Given the description of an element on the screen output the (x, y) to click on. 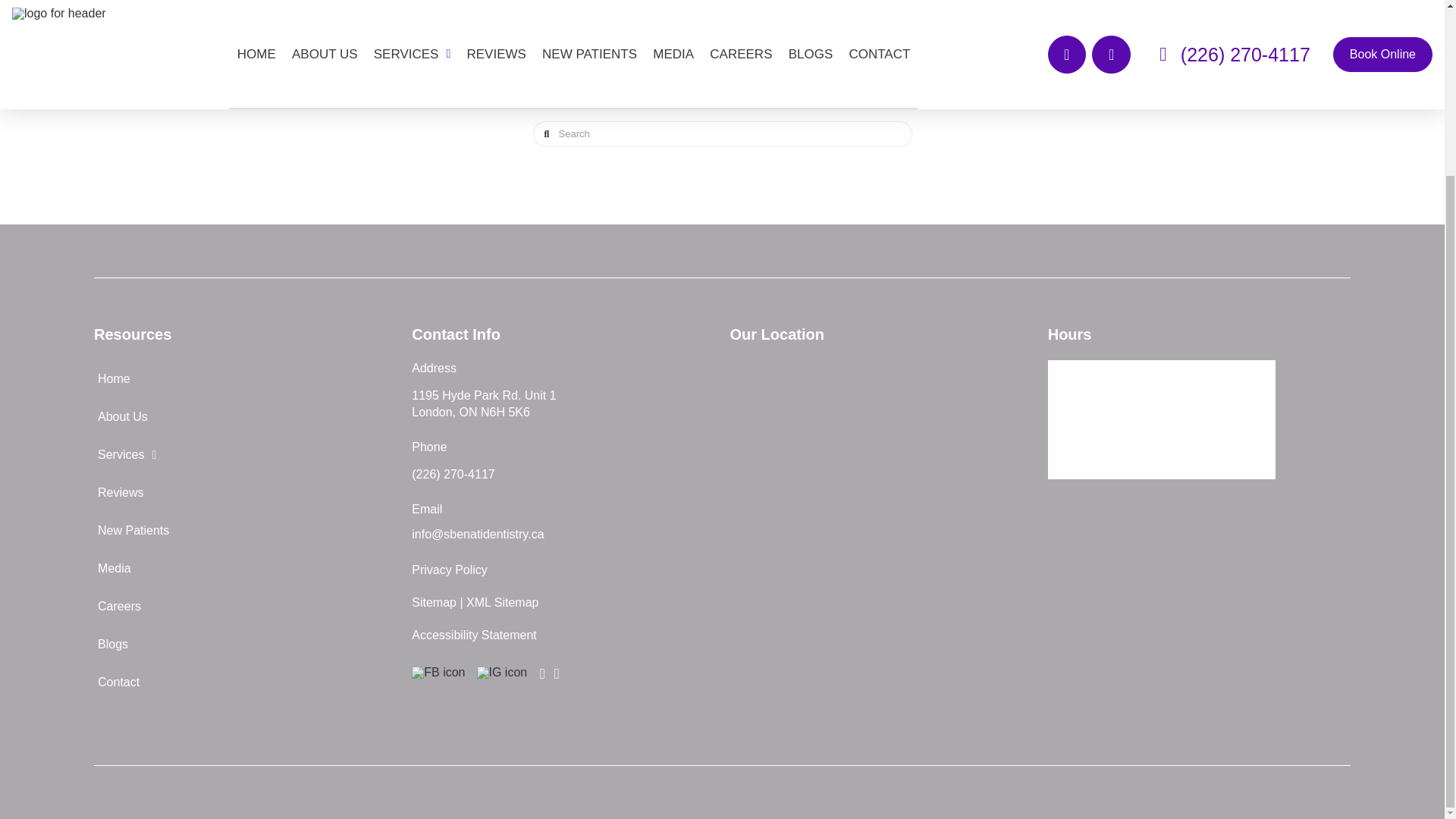
About Us (245, 416)
Home (245, 379)
Reviews (245, 492)
Services (245, 454)
